Given the description of an element on the screen output the (x, y) to click on. 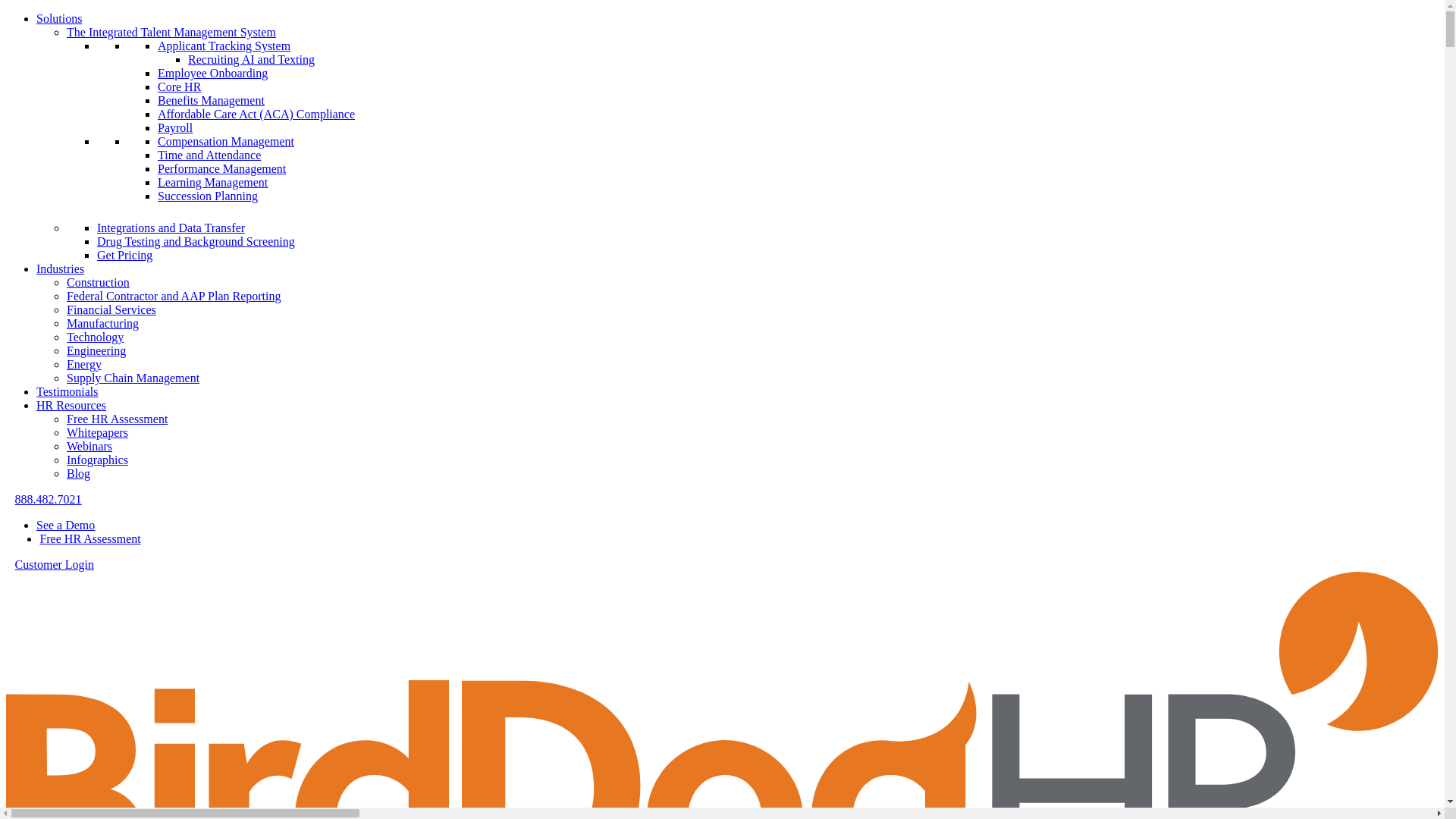
Manufacturing (102, 323)
Whitepapers (97, 431)
Industries (60, 268)
Drug Testing and Background Screening (196, 241)
Compensation Management (225, 141)
Recruiting AI and Texting (250, 59)
Solutions (58, 18)
Learning Management (212, 182)
Benefits Management (210, 100)
Integrations and Data Transfer (170, 227)
HR Resources (71, 404)
Applicant Tracking System (223, 45)
Testimonials (67, 391)
Engineering (95, 350)
Construction (97, 282)
